Given the description of an element on the screen output the (x, y) to click on. 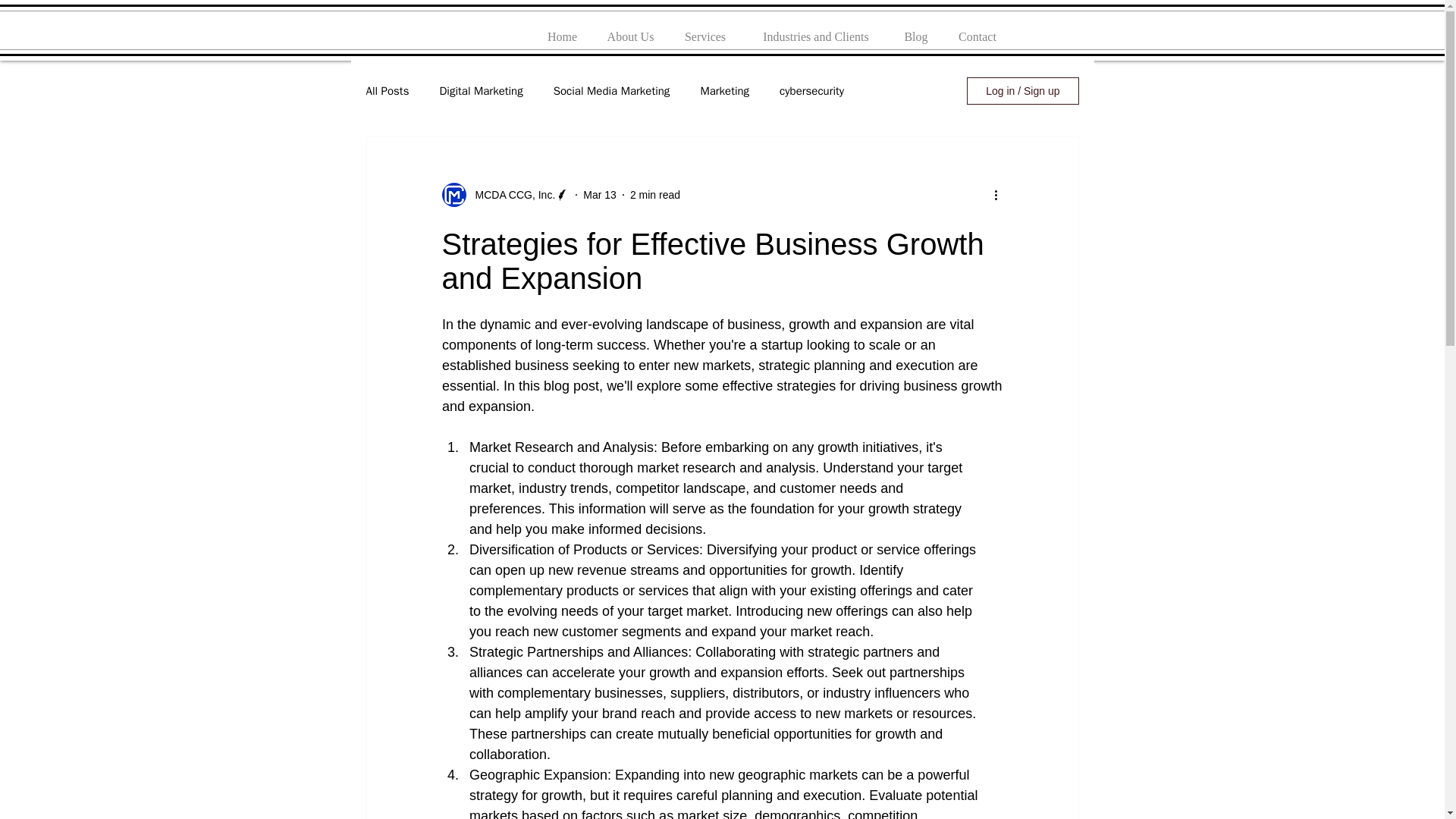
Marketing (724, 90)
2 min read (654, 193)
Services (704, 29)
Mar 13 (599, 193)
Contact (977, 29)
Digital Marketing (480, 90)
Blog (915, 29)
Social Media Marketing (611, 90)
cybersecurity (811, 90)
All Posts (387, 90)
Home (562, 29)
About Us (630, 29)
Industries and Clients (815, 29)
MCDA CCG, Inc. (509, 194)
